Given the description of an element on the screen output the (x, y) to click on. 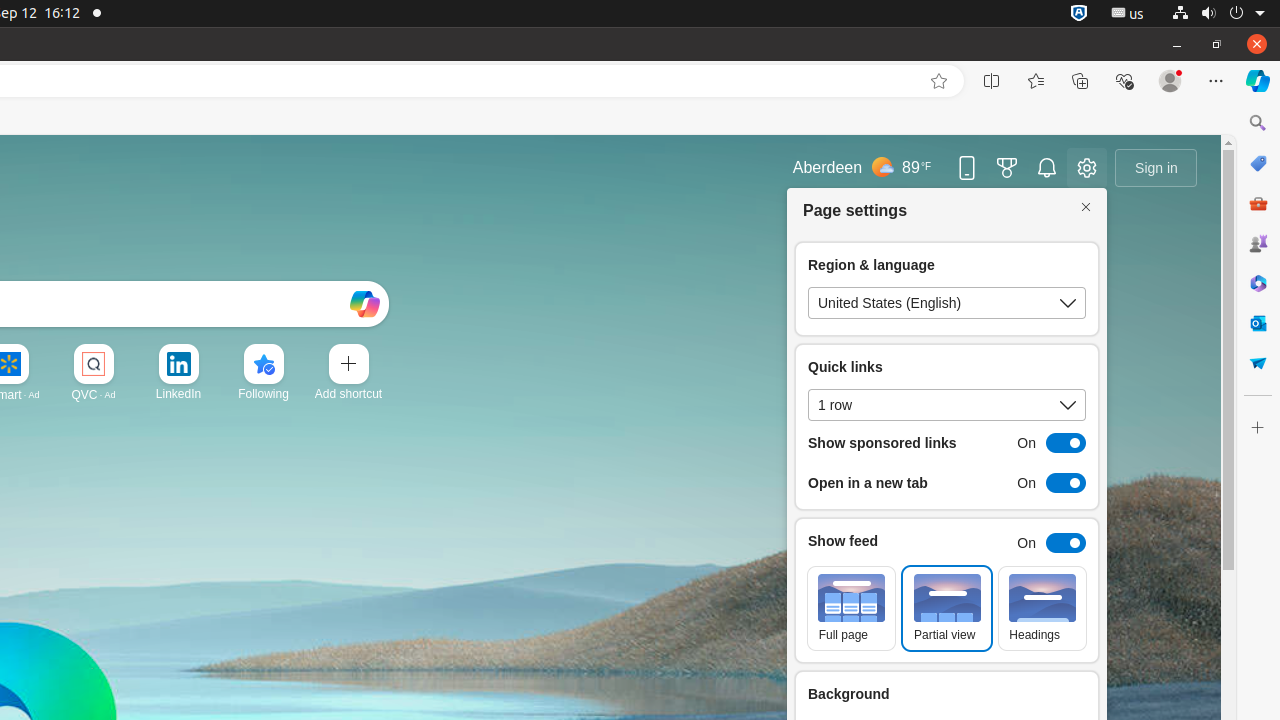
Microsoft 365 Element type: push-button (1258, 283)
Partial view Element type: push-button (947, 608)
QVC · Ad Element type: link (93, 393)
Collections Element type: push-button (1080, 81)
Customize Element type: push-button (1258, 428)
